Given the description of an element on the screen output the (x, y) to click on. 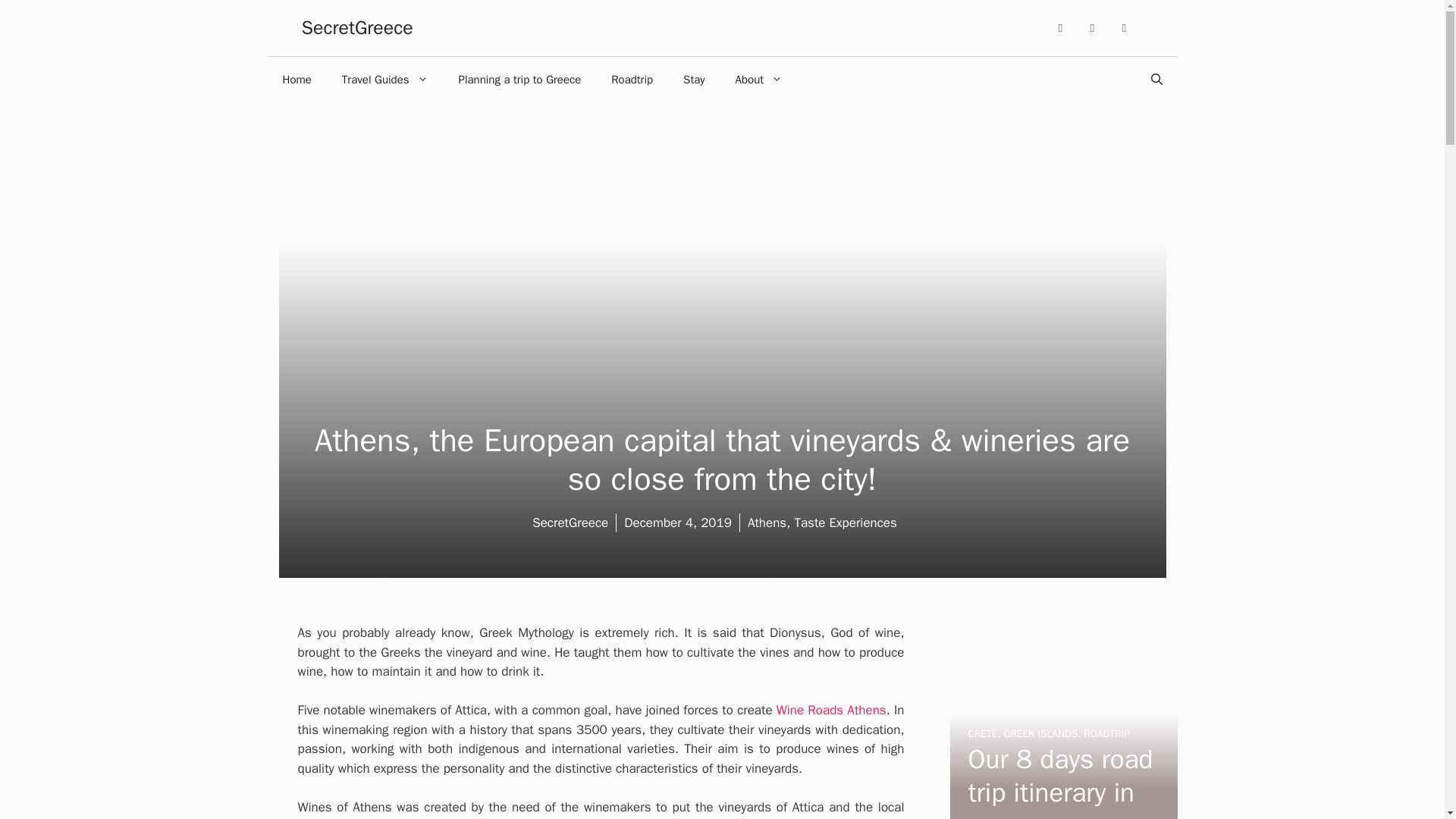
Facebook (1092, 27)
Twitter (1124, 27)
Home (296, 79)
SecretGreece (357, 27)
Instagram (1061, 27)
Our 8 days road trip itinerary in Chania region, in Crete! (1062, 811)
Travel Guides (385, 79)
